Given the description of an element on the screen output the (x, y) to click on. 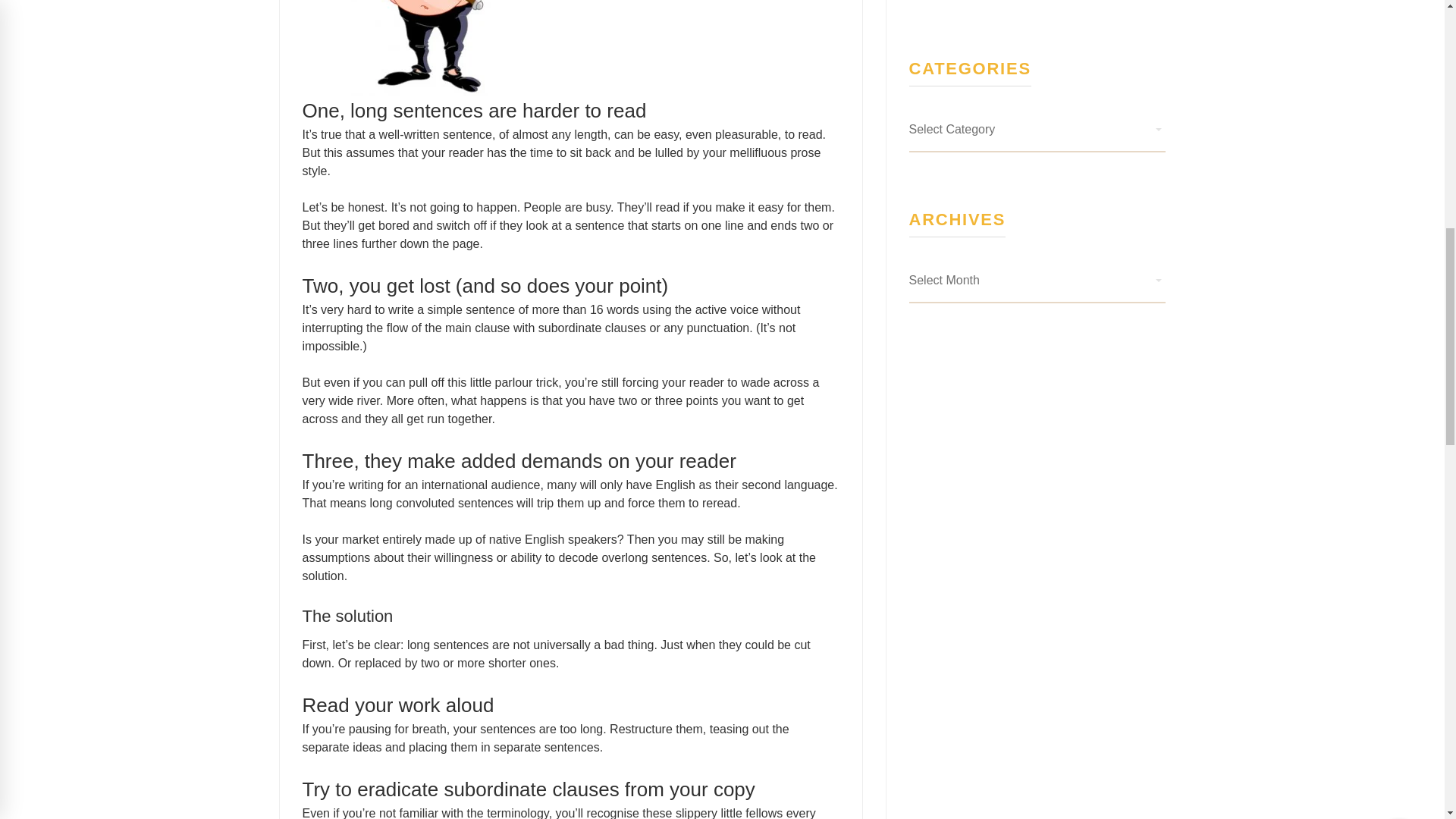
Executioner (395, 48)
